Given the description of an element on the screen output the (x, y) to click on. 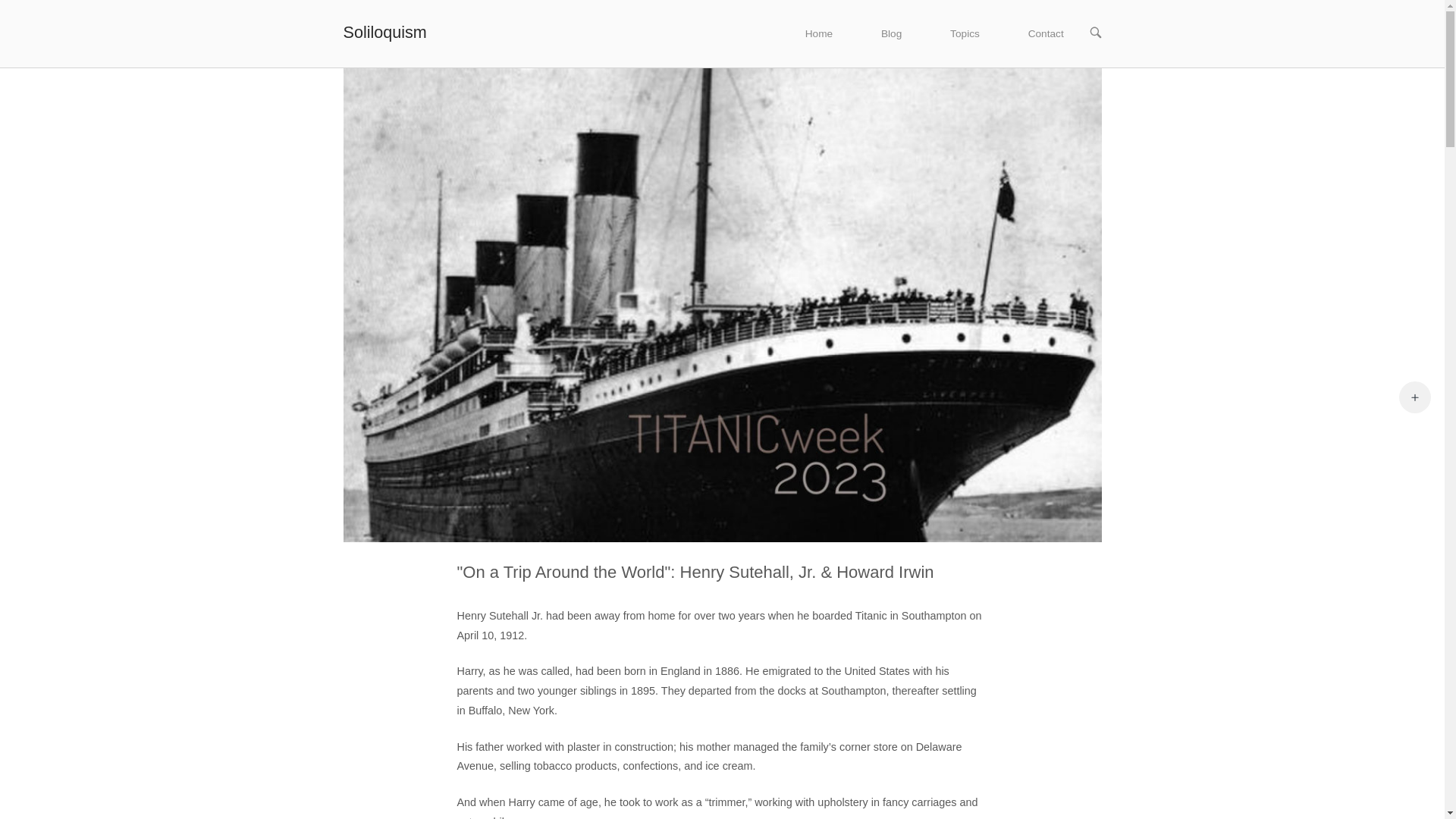
Home (819, 33)
Blog (891, 33)
Contact (1046, 33)
Soliloquism (384, 31)
Topics (965, 33)
